Given the description of an element on the screen output the (x, y) to click on. 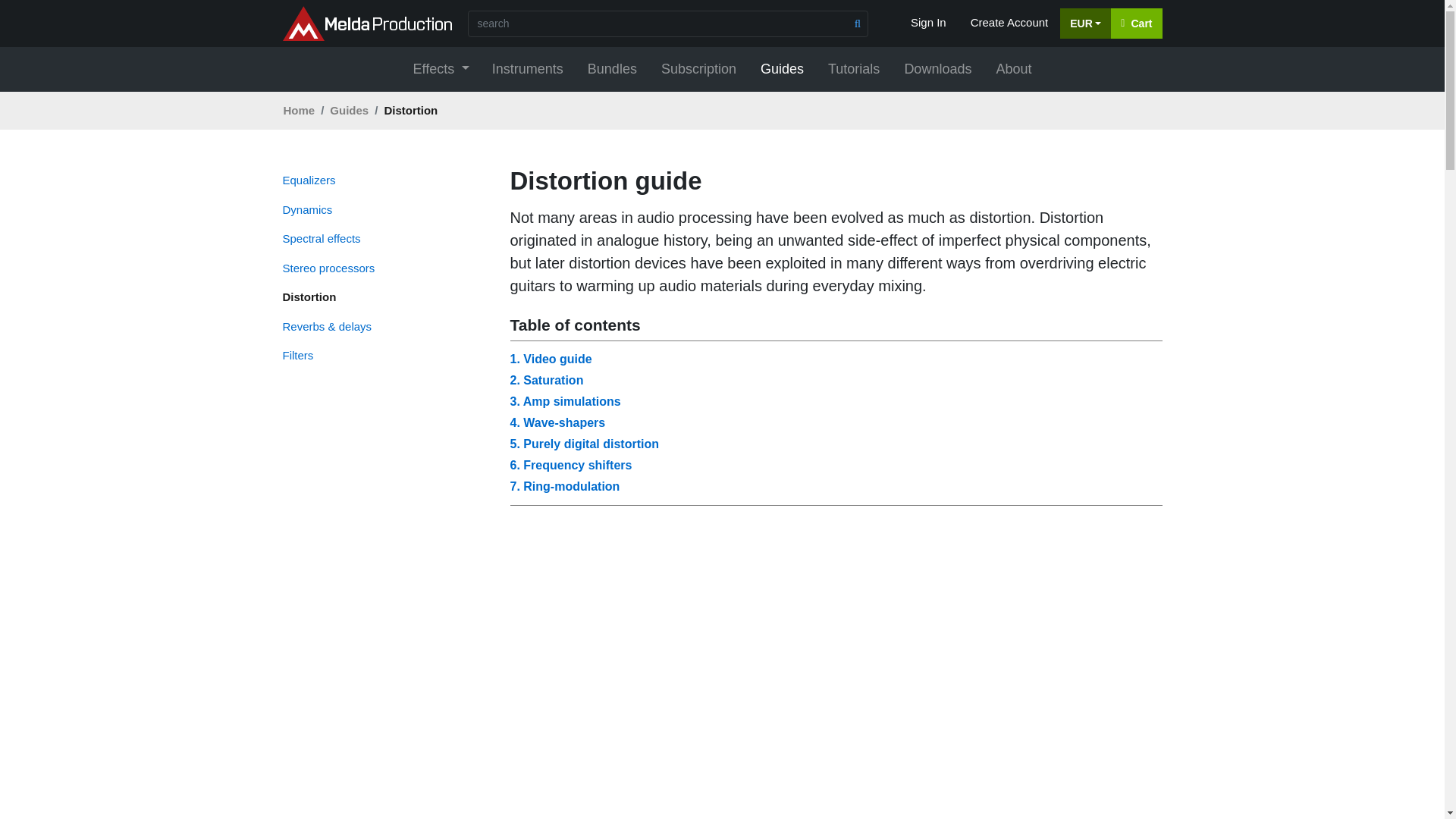
Tutorials (853, 69)
Effects (439, 69)
Downloads (937, 69)
EUR (1084, 23)
About (1013, 69)
Sign In (928, 22)
Subscription (698, 69)
Create Account (1009, 22)
Guides (781, 69)
Bundles (612, 69)
